Given the description of an element on the screen output the (x, y) to click on. 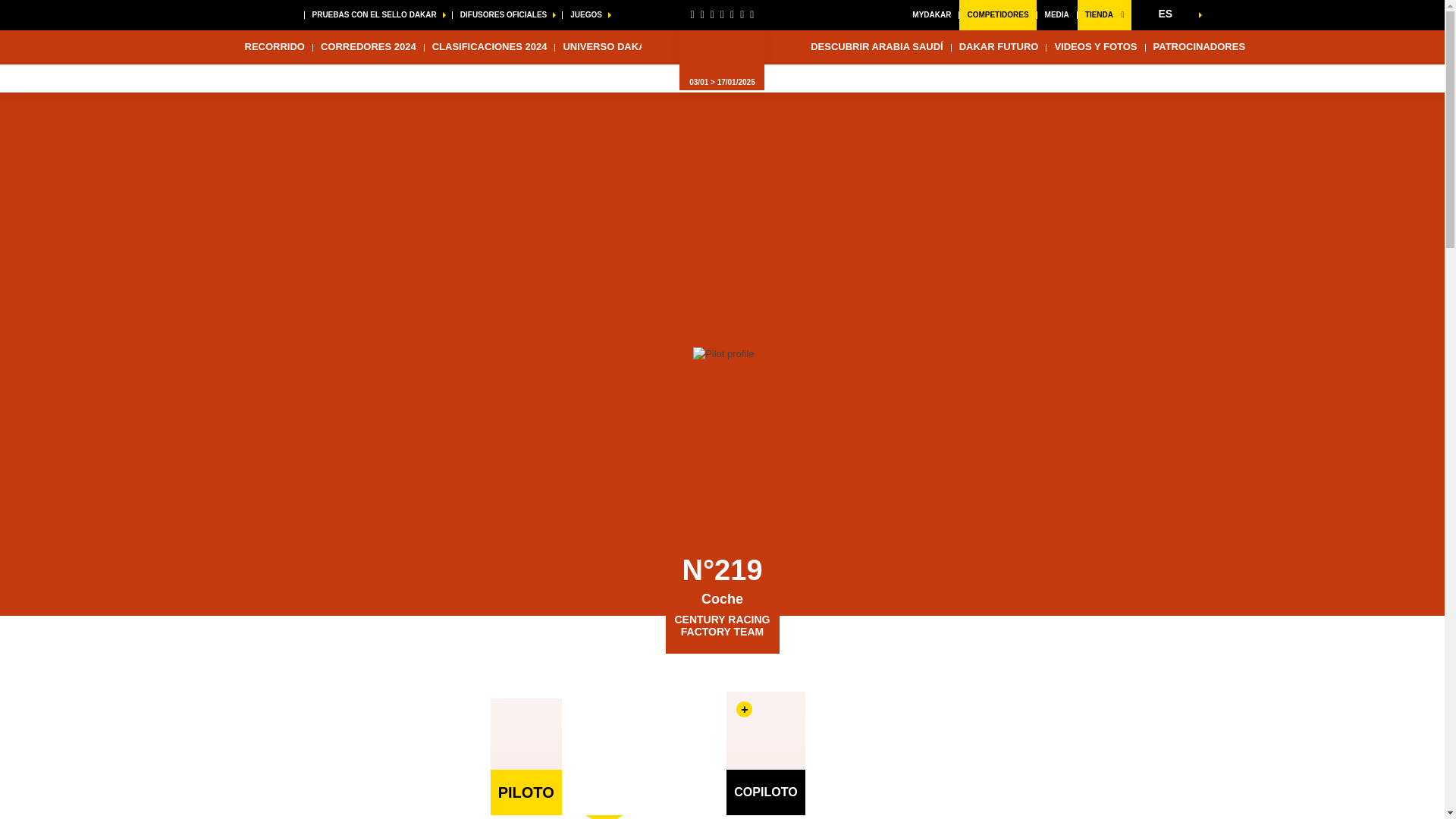
DIFUSORES OFICIALES (507, 15)
TIENDA (1104, 15)
MYDAKAR (931, 15)
CORREDORES 2024 (368, 47)
UNIVERSO DAKAR (606, 47)
RECORRIDO (273, 47)
CLASIFICACIONES 2024 (489, 47)
ES (1169, 14)
PATROCINADORES (1199, 47)
DAKAR FUTURO (999, 47)
